Given the description of an element on the screen output the (x, y) to click on. 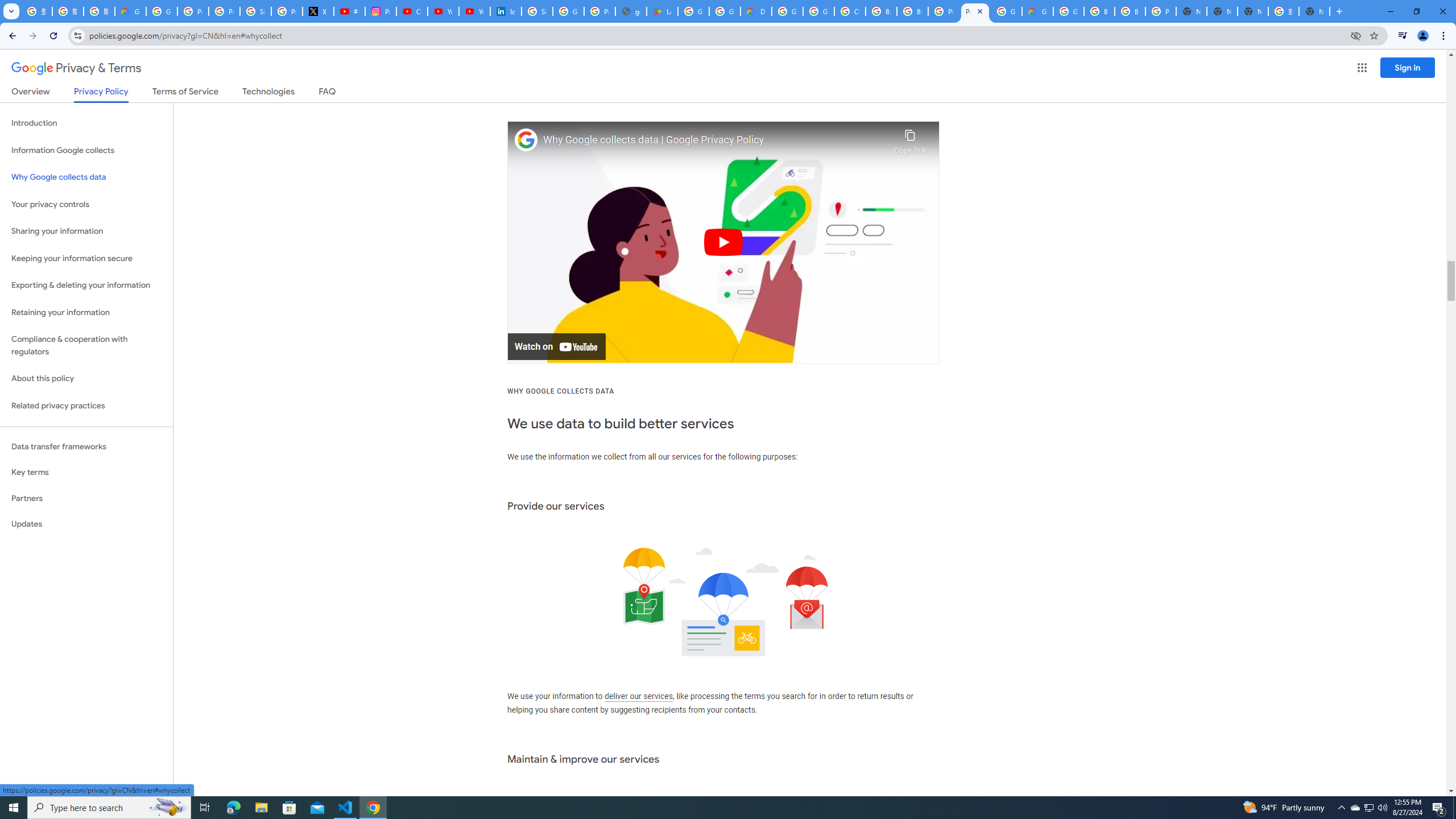
Browse Chrome as a guest - Computer - Google Chrome Help (881, 11)
Updates (86, 524)
Google Cloud Platform (1005, 11)
Identity verification via Persona | LinkedIn Help (505, 11)
Retaining your information (86, 312)
Information Google collects (86, 150)
Compliance & cooperation with regulators (86, 345)
Play (723, 242)
